Given the description of an element on the screen output the (x, y) to click on. 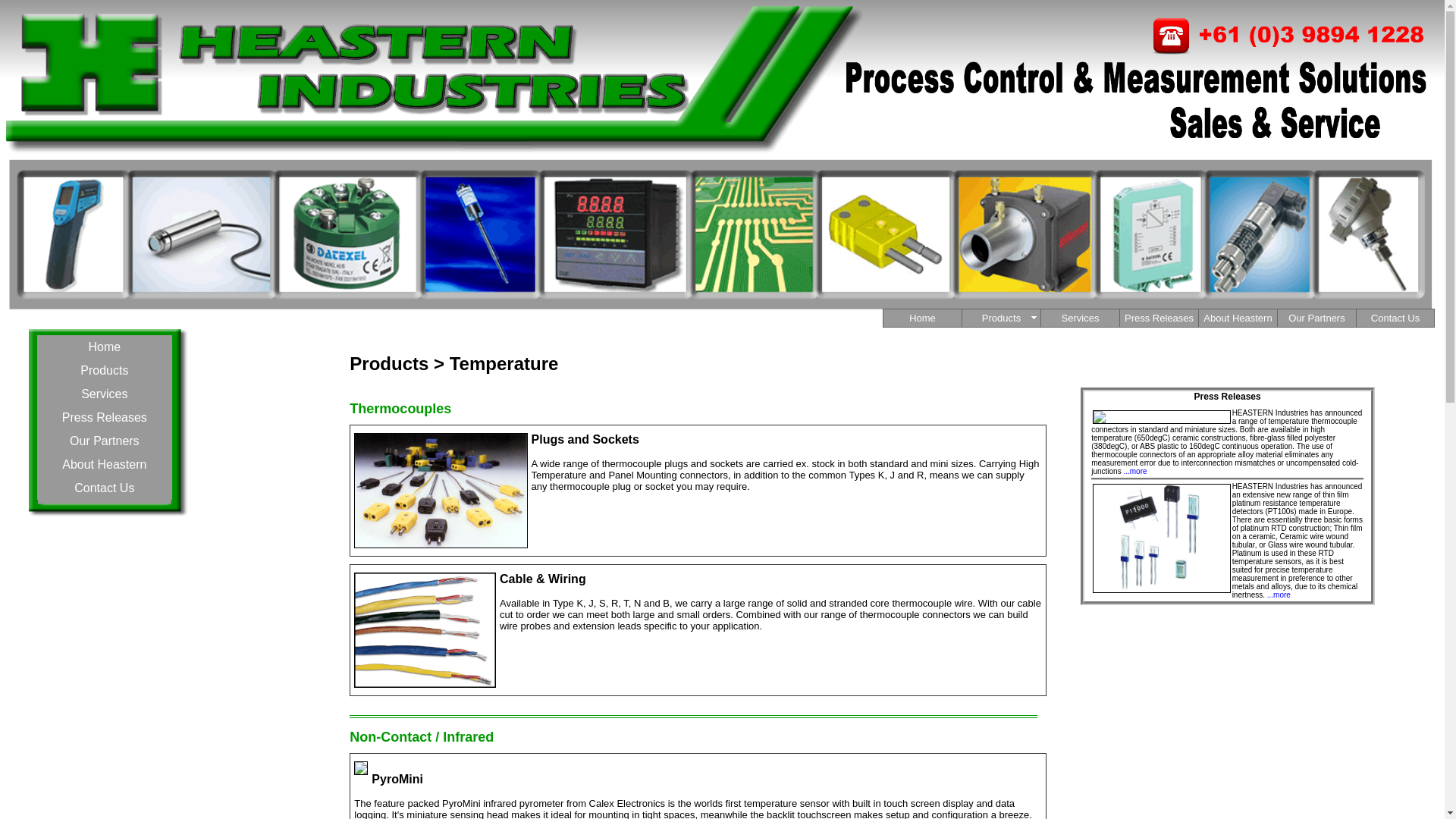
Contact Us Element type: text (104, 487)
Our Partners Element type: text (1316, 317)
Press Releases Element type: text (104, 416)
Products Element type: text (1000, 317)
Home Element type: text (104, 346)
About Heastern Element type: text (1237, 317)
...more Element type: text (1278, 594)
About Heastern Element type: text (104, 463)
Home Element type: text (921, 317)
...more Element type: text (1134, 471)
Services Element type: text (104, 393)
Press Releases Element type: text (1158, 317)
Contact Us Element type: text (1394, 317)
Products Element type: text (104, 369)
Services Element type: text (1079, 317)
Our Partners Element type: text (104, 440)
